Given the description of an element on the screen output the (x, y) to click on. 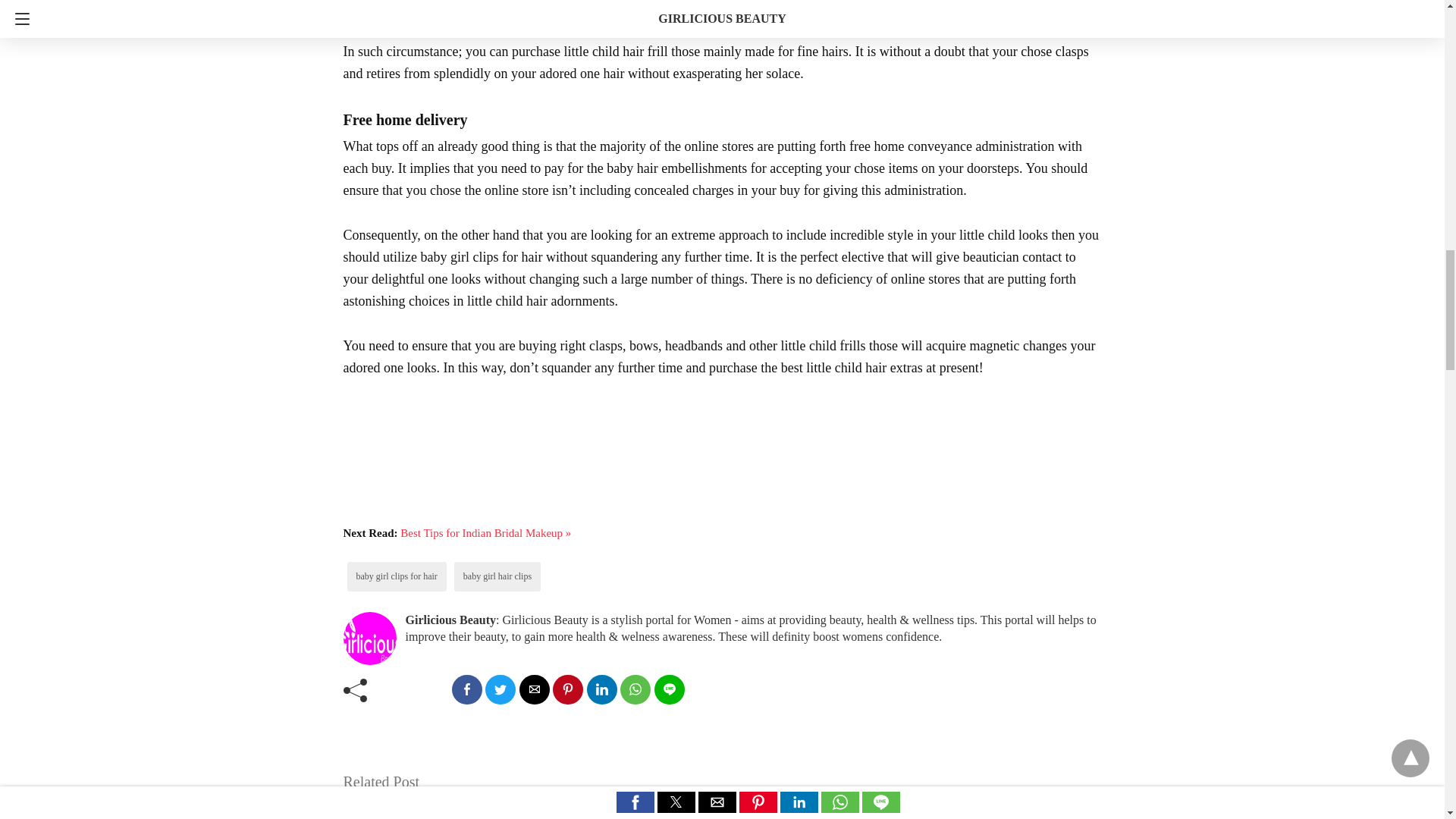
baby girl clips for hair (397, 575)
whatsapp share (635, 689)
baby girl hair clips (497, 575)
facebook share (466, 689)
linkedin share (601, 689)
mailto (533, 689)
twitter share (499, 689)
line share (668, 689)
Best Hair Scissors for Your Stylish HairCuts (567, 804)
Best Hair Scissors for Your Stylish HairCuts (567, 804)
